Given the description of an element on the screen output the (x, y) to click on. 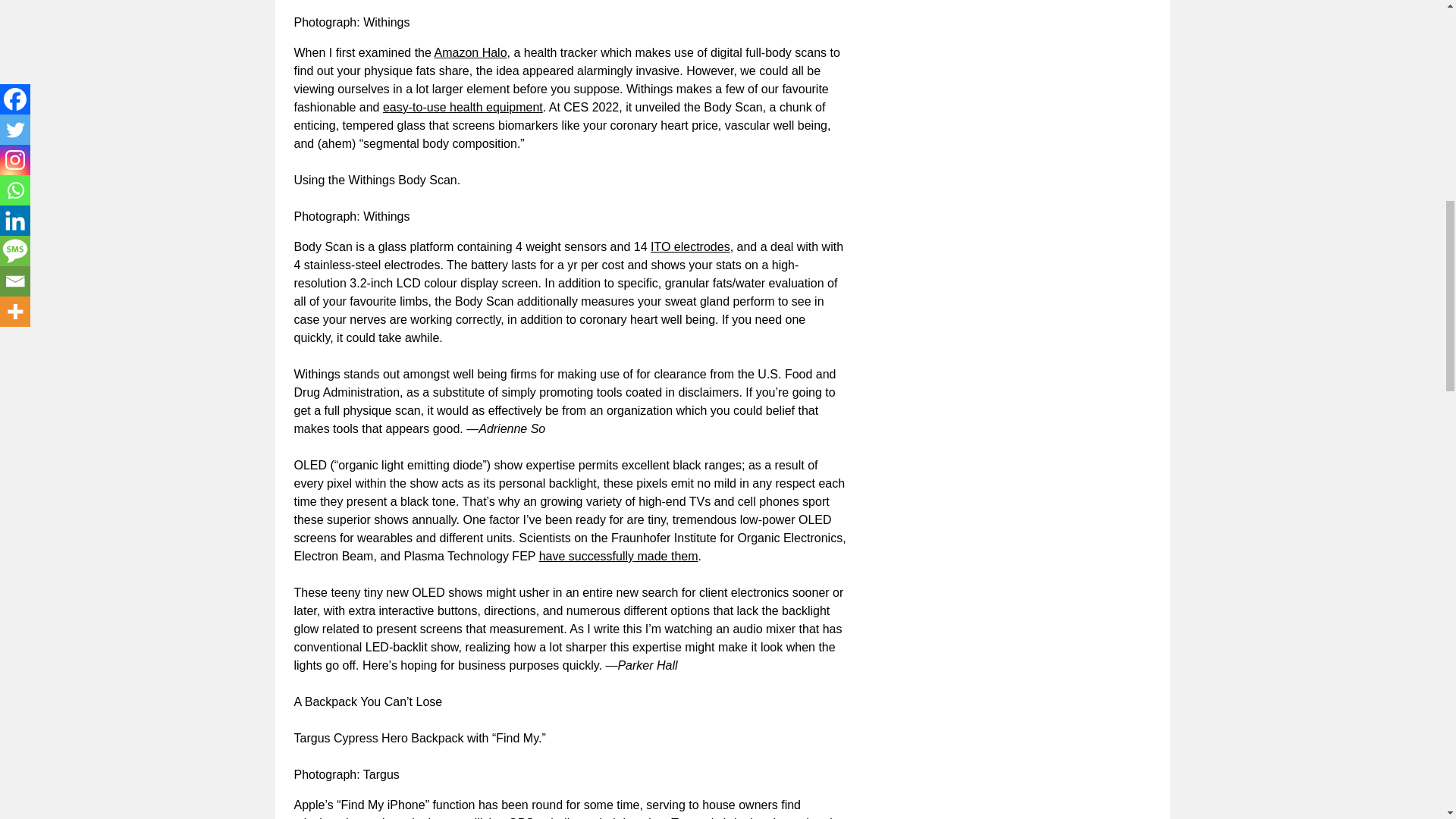
have successfully made them (618, 555)
Amazon Halo (469, 51)
easy-to-use health equipment (462, 106)
ITO electrodes (690, 246)
